Given the description of an element on the screen output the (x, y) to click on. 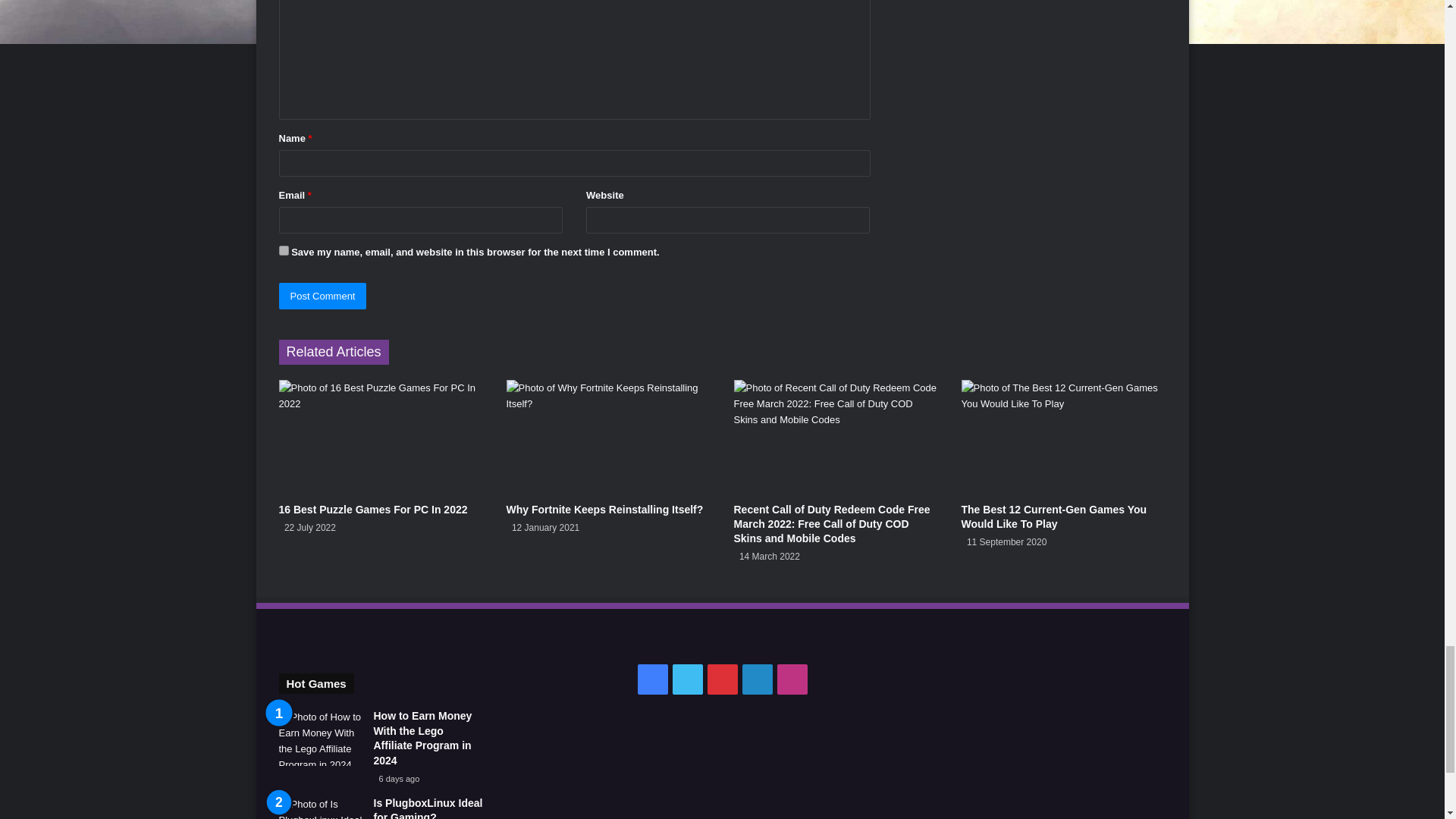
yes (283, 250)
Post Comment (322, 295)
